Given the description of an element on the screen output the (x, y) to click on. 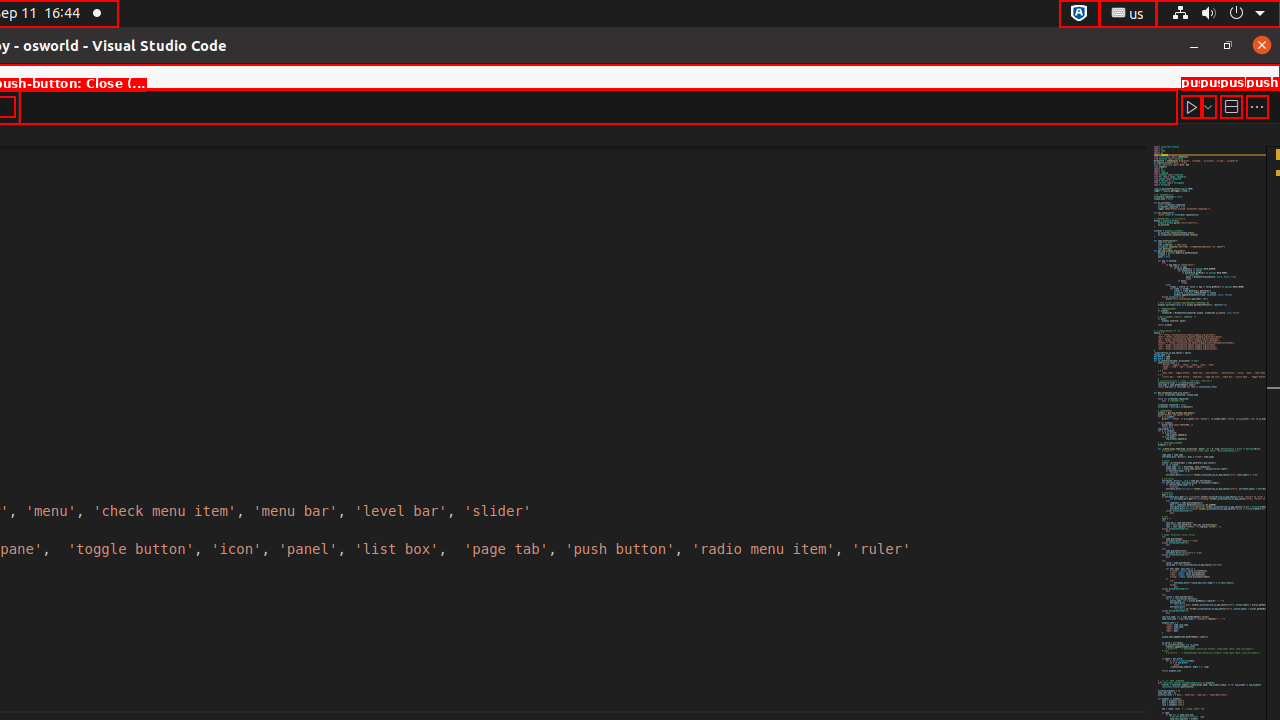
Split Editor Right (Ctrl+\) [Alt] Split Editor Down Element type: push-button (1231, 106)
More Actions... Element type: push-button (1257, 106)
